Given the description of an element on the screen output the (x, y) to click on. 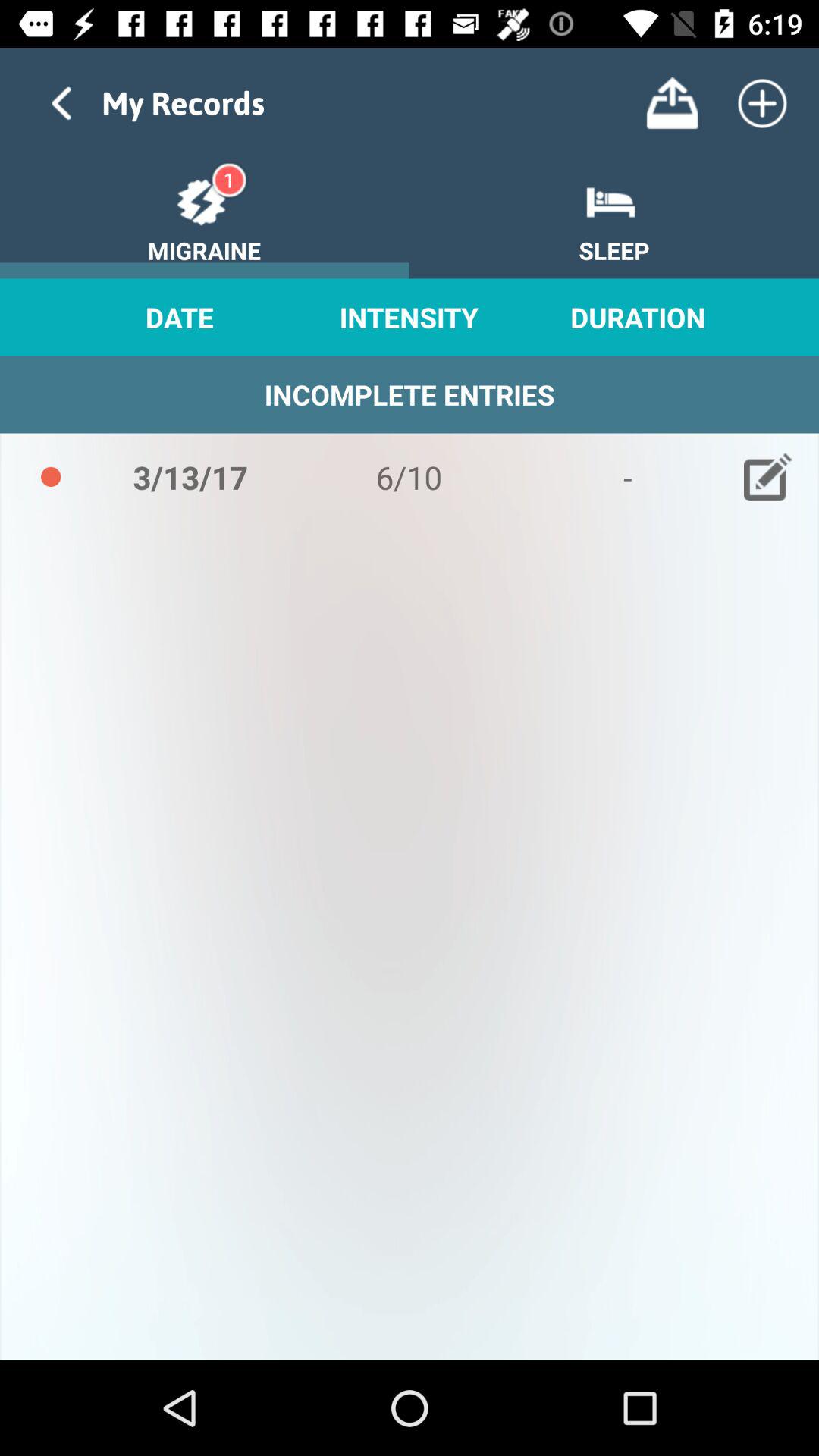
go to storage (672, 103)
